Given the description of an element on the screen output the (x, y) to click on. 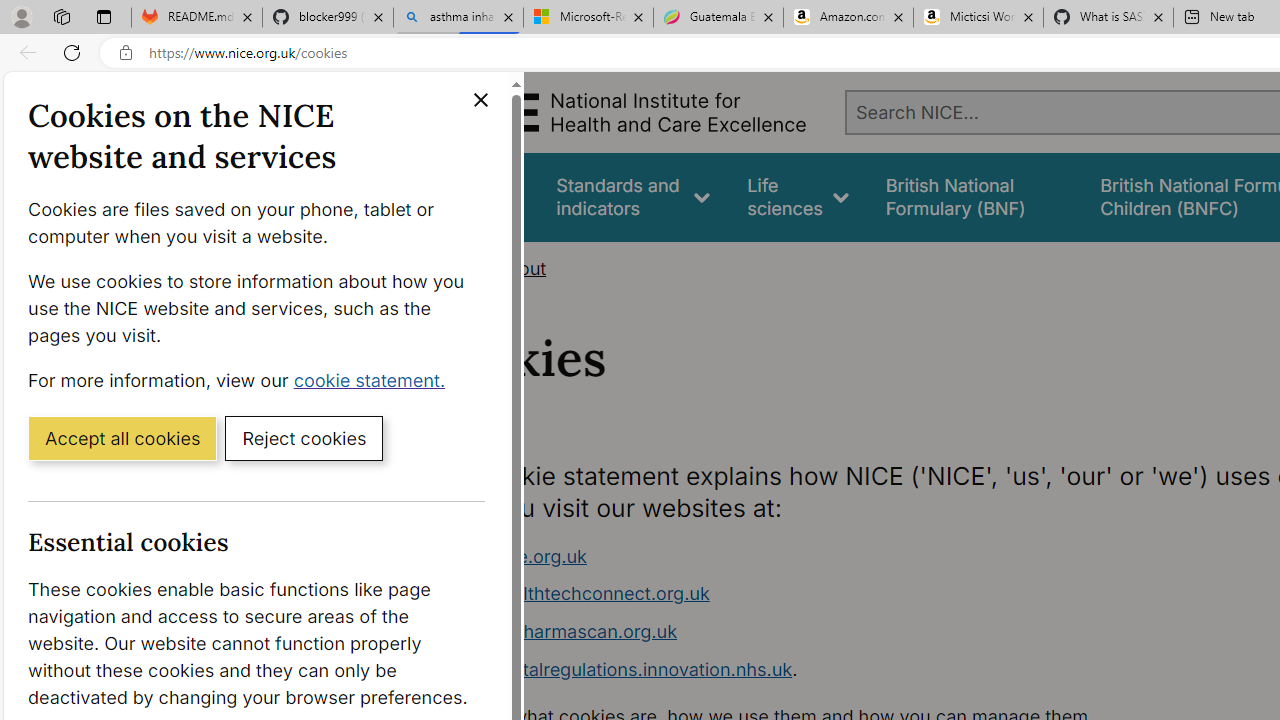
Home> (456, 268)
Back (24, 52)
Home (446, 268)
Guidance (479, 196)
Accept all cookies (122, 437)
www.ukpharmascan.org.uk (818, 632)
www.healthtechconnect.org.uk (818, 594)
false (974, 196)
www.ukpharmascan.org.uk (560, 631)
Life sciences (798, 196)
Close cookie banner (480, 99)
www.digitalregulations.innovation.nhs.uk (617, 668)
